Given the description of an element on the screen output the (x, y) to click on. 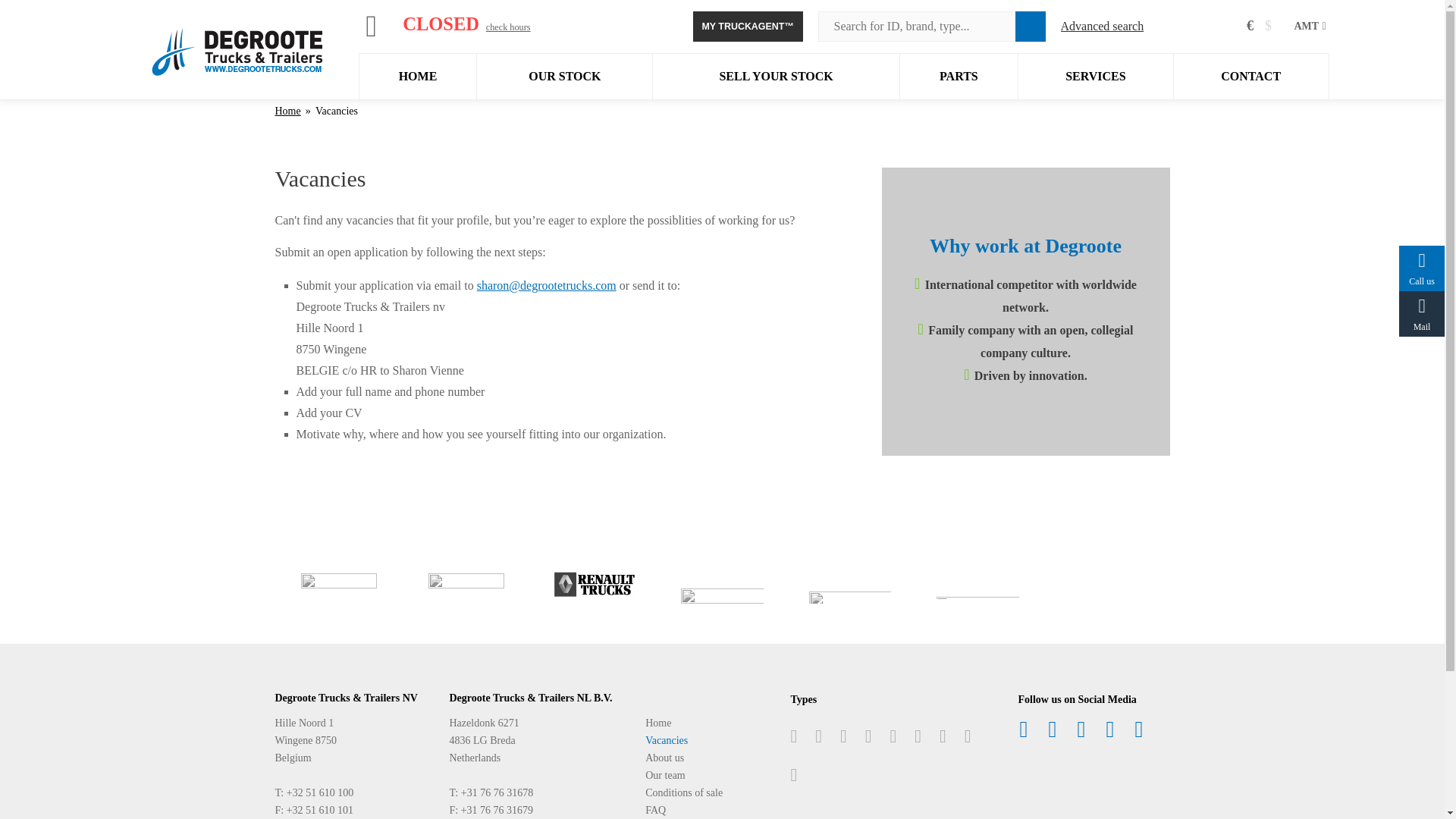
check hours (508, 27)
Search (1029, 26)
Home (236, 38)
Our stock (564, 76)
HOME (418, 76)
Services (1095, 76)
Sell your stock (775, 76)
CONTACT (1250, 76)
OUR STOCK (564, 76)
SERVICES (1095, 76)
